Given the description of an element on the screen output the (x, y) to click on. 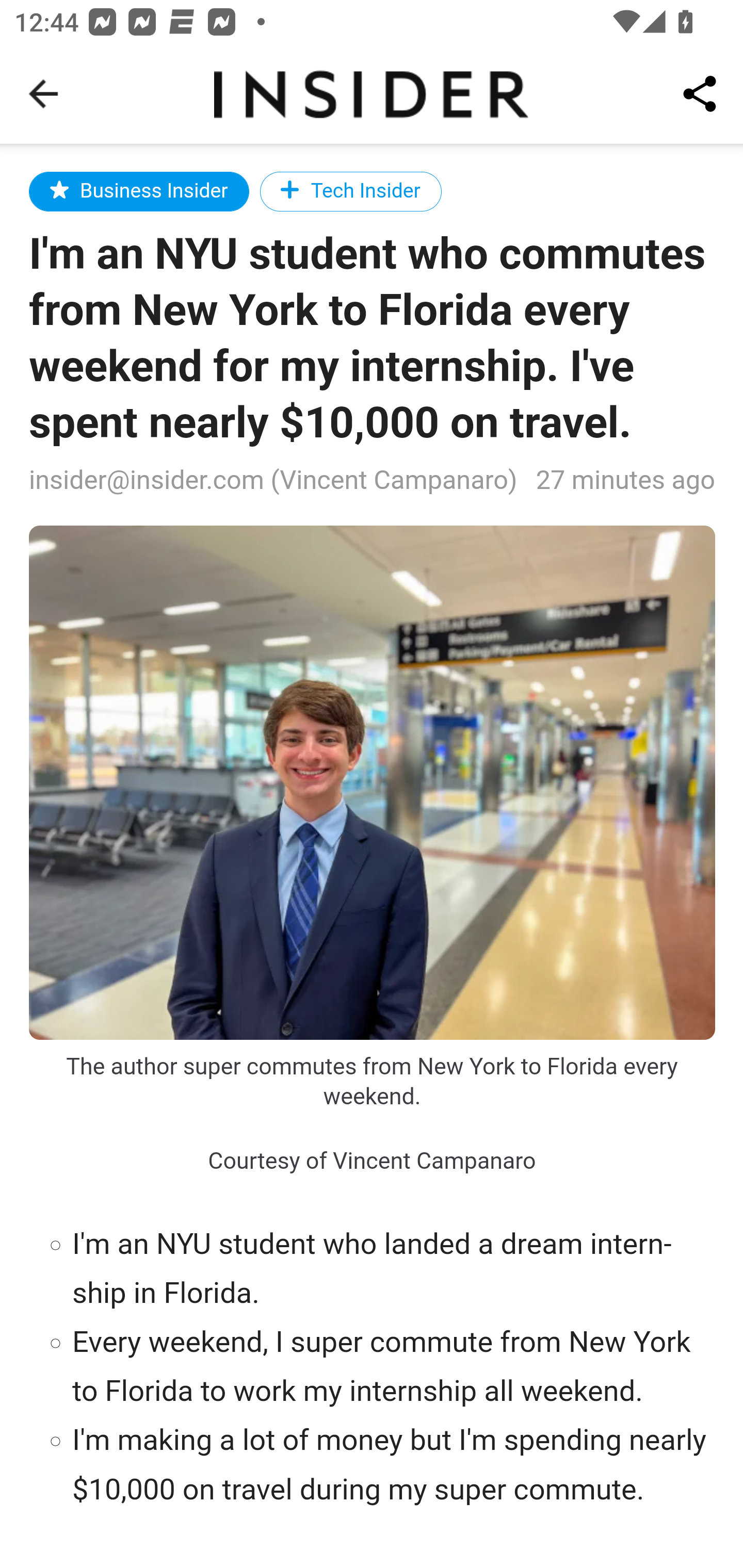
Business Insider (138, 191)
Tech Insider (349, 191)
?url=https%3A%2F%2Fi.insider (372, 782)
